Given the description of an element on the screen output the (x, y) to click on. 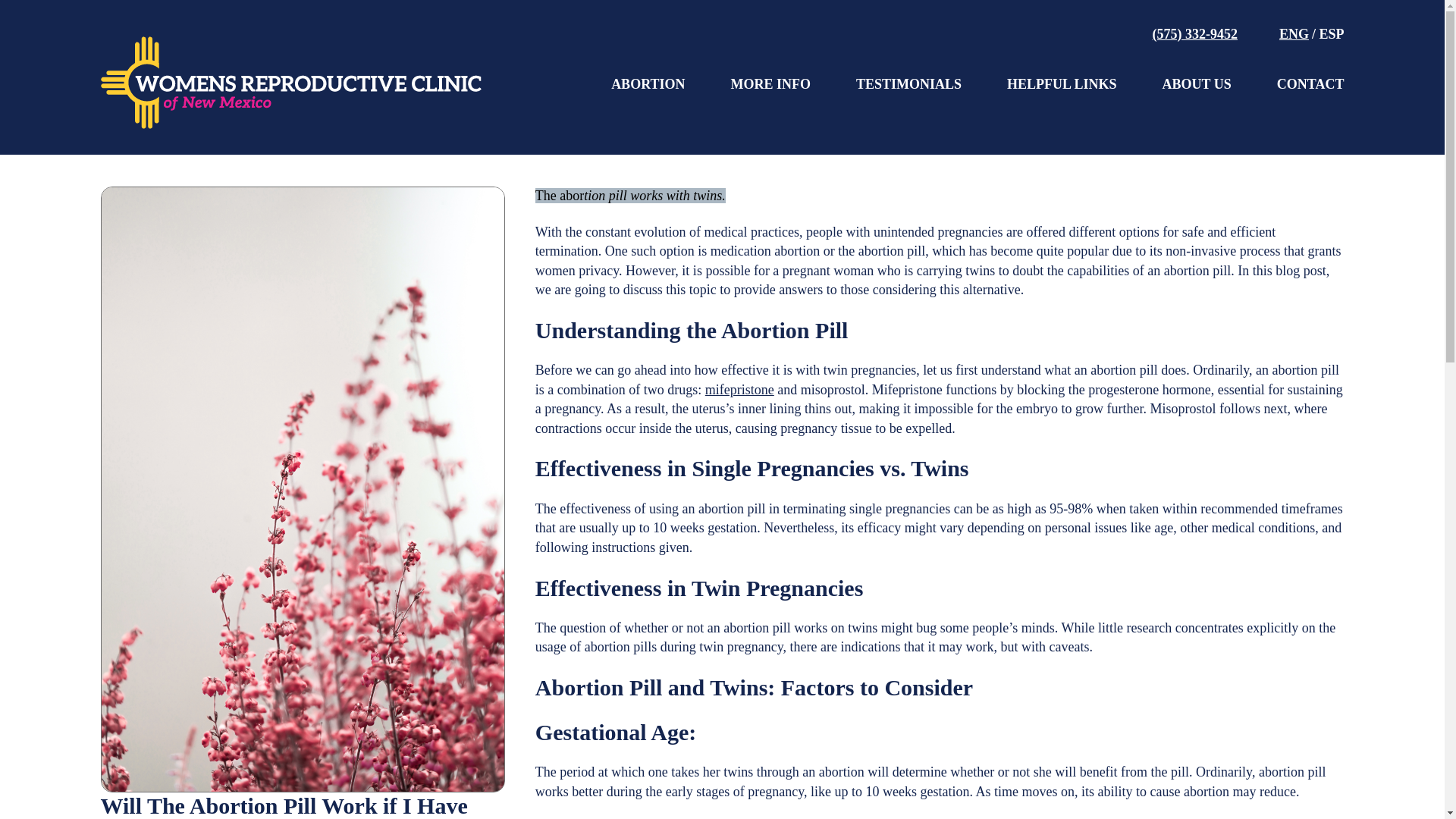
TESTIMONIALS (908, 84)
MORE INFO (770, 84)
ESP (1331, 33)
ABOUT US (1196, 84)
Spanish (1331, 33)
English (1293, 33)
ABORTION (647, 84)
HELPFUL LINKS (1061, 84)
mifepristone (739, 389)
CONTACT (1309, 84)
ENG (1293, 33)
